Given the description of an element on the screen output the (x, y) to click on. 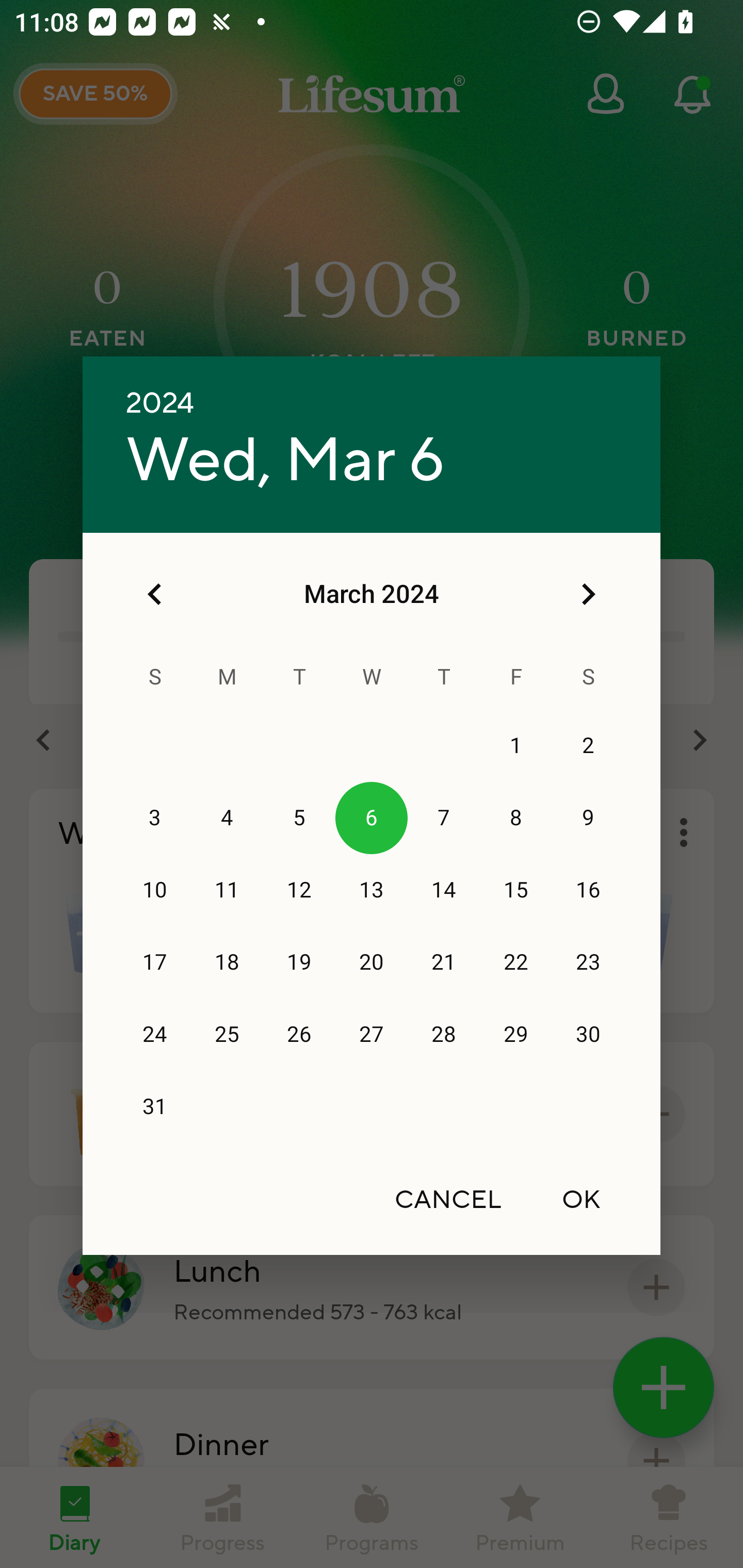
2024 (159, 403)
Wed, Mar 6 (285, 460)
Previous month (154, 594)
Next month (587, 594)
1 01 March 2024 (515, 746)
2 02 March 2024 (588, 746)
3 03 March 2024 (154, 818)
4 04 March 2024 (226, 818)
5 05 March 2024 (299, 818)
6 06 March 2024 (371, 818)
7 07 March 2024 (443, 818)
8 08 March 2024 (515, 818)
9 09 March 2024 (588, 818)
10 10 March 2024 (154, 890)
11 11 March 2024 (226, 890)
12 12 March 2024 (299, 890)
13 13 March 2024 (371, 890)
14 14 March 2024 (443, 890)
15 15 March 2024 (515, 890)
16 16 March 2024 (588, 890)
17 17 March 2024 (154, 962)
18 18 March 2024 (226, 962)
19 19 March 2024 (299, 962)
20 20 March 2024 (371, 962)
21 21 March 2024 (443, 962)
22 22 March 2024 (515, 962)
23 23 March 2024 (588, 962)
24 24 March 2024 (154, 1034)
25 25 March 2024 (226, 1034)
26 26 March 2024 (299, 1034)
27 27 March 2024 (371, 1034)
28 28 March 2024 (443, 1034)
29 29 March 2024 (515, 1034)
30 30 March 2024 (588, 1034)
31 31 March 2024 (154, 1106)
CANCEL (447, 1199)
OK (580, 1199)
